Given the description of an element on the screen output the (x, y) to click on. 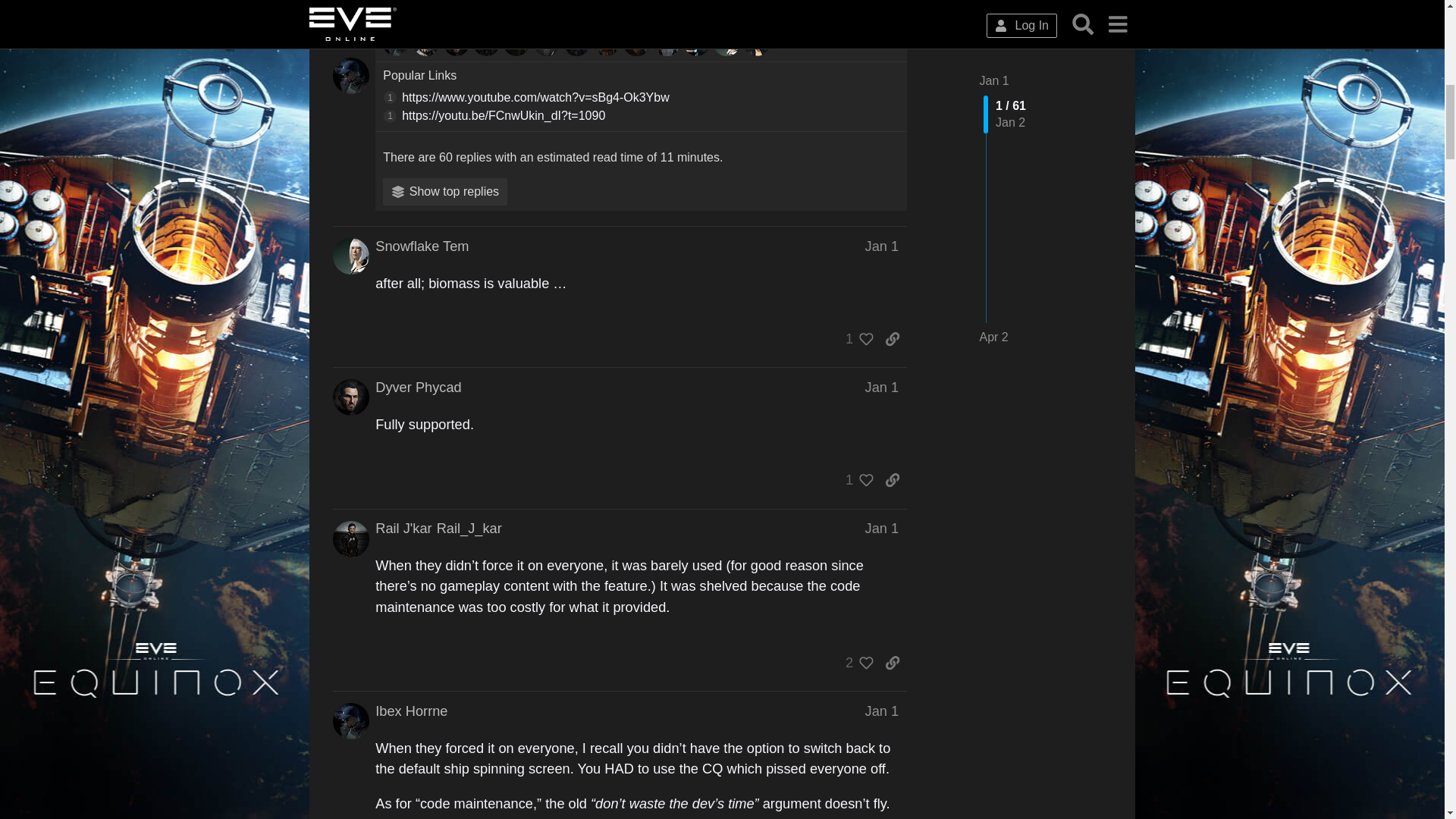
7 (459, 43)
17 (397, 43)
13 (428, 43)
2 (578, 43)
collapse topic details (881, 1)
3 (549, 43)
6 (488, 43)
6 (518, 43)
